Given the description of an element on the screen output the (x, y) to click on. 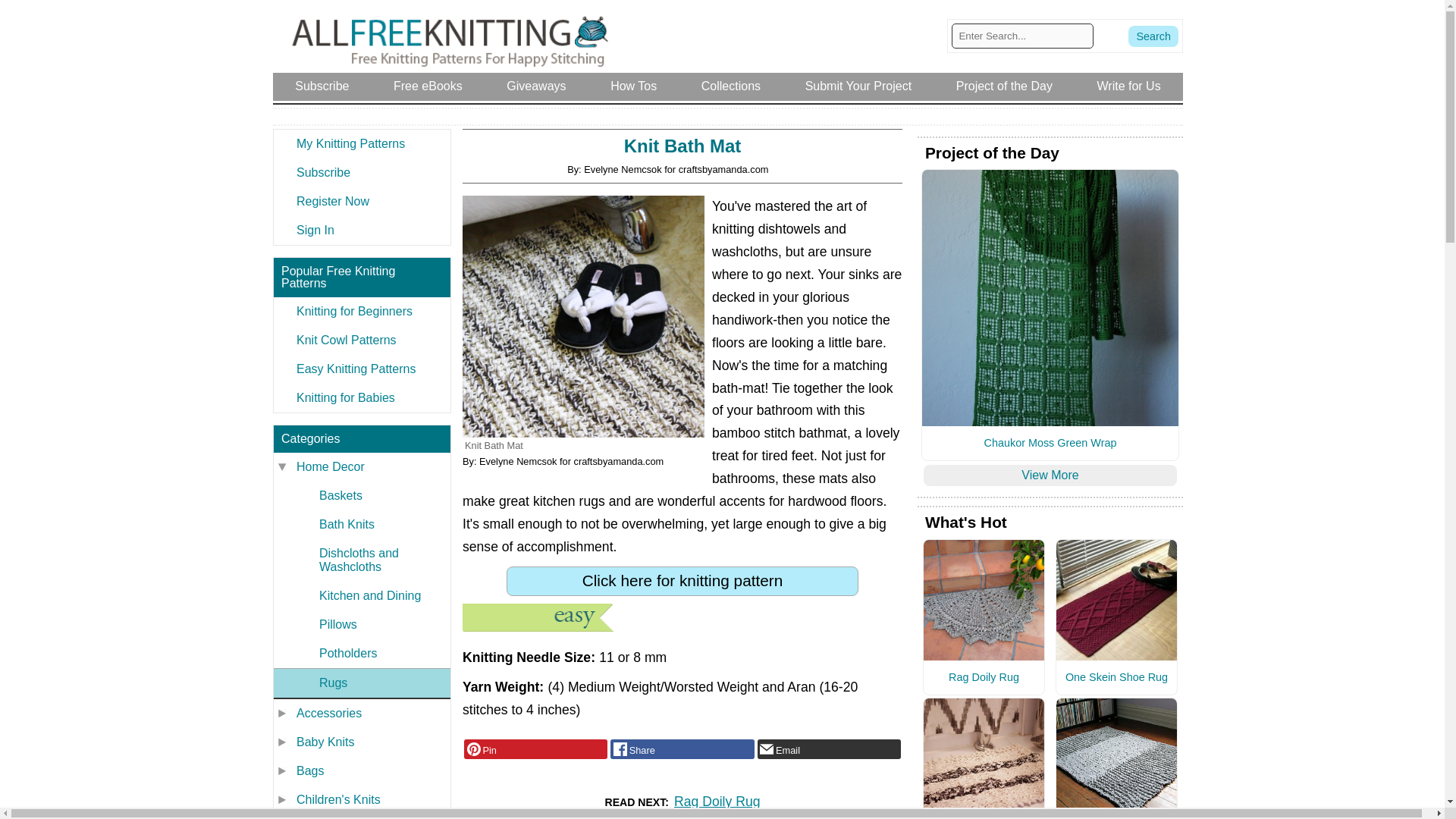
My Knitting Patterns (361, 143)
Search (1152, 35)
Sign In (361, 230)
Subscribe (361, 172)
Knit Bath Mat (583, 316)
Register Now (361, 201)
Email (829, 749)
Facebook (682, 749)
